Given the description of an element on the screen output the (x, y) to click on. 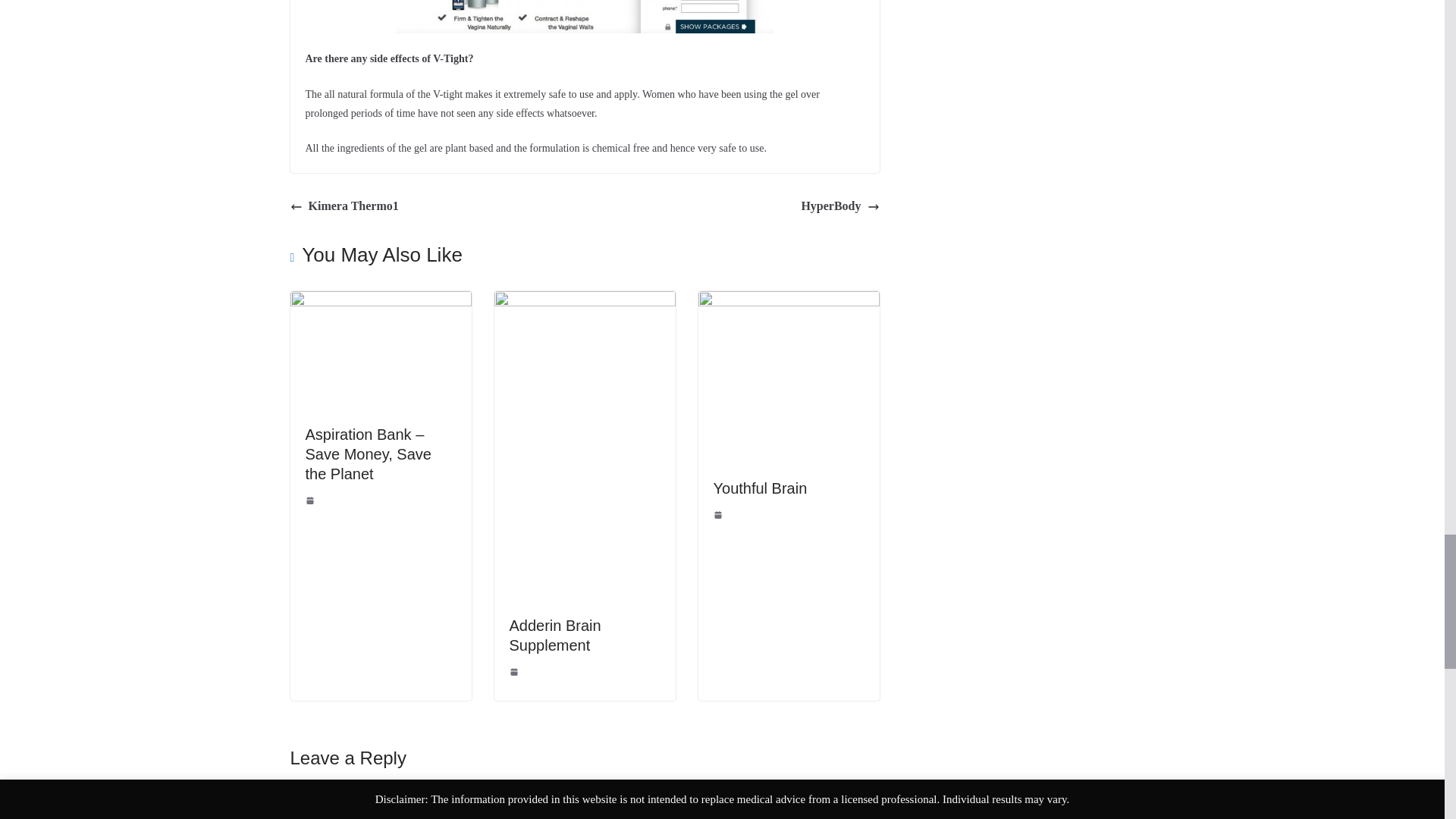
Adderin Brain Supplement (555, 635)
Youthful Brain (788, 300)
Youthful Brain (759, 487)
Youthful Brain (759, 487)
Kimera Thermo1 (343, 206)
Adderin Brain Supplement (585, 300)
HyperBody (839, 206)
Adderin Brain Supplement (555, 635)
